Given the description of an element on the screen output the (x, y) to click on. 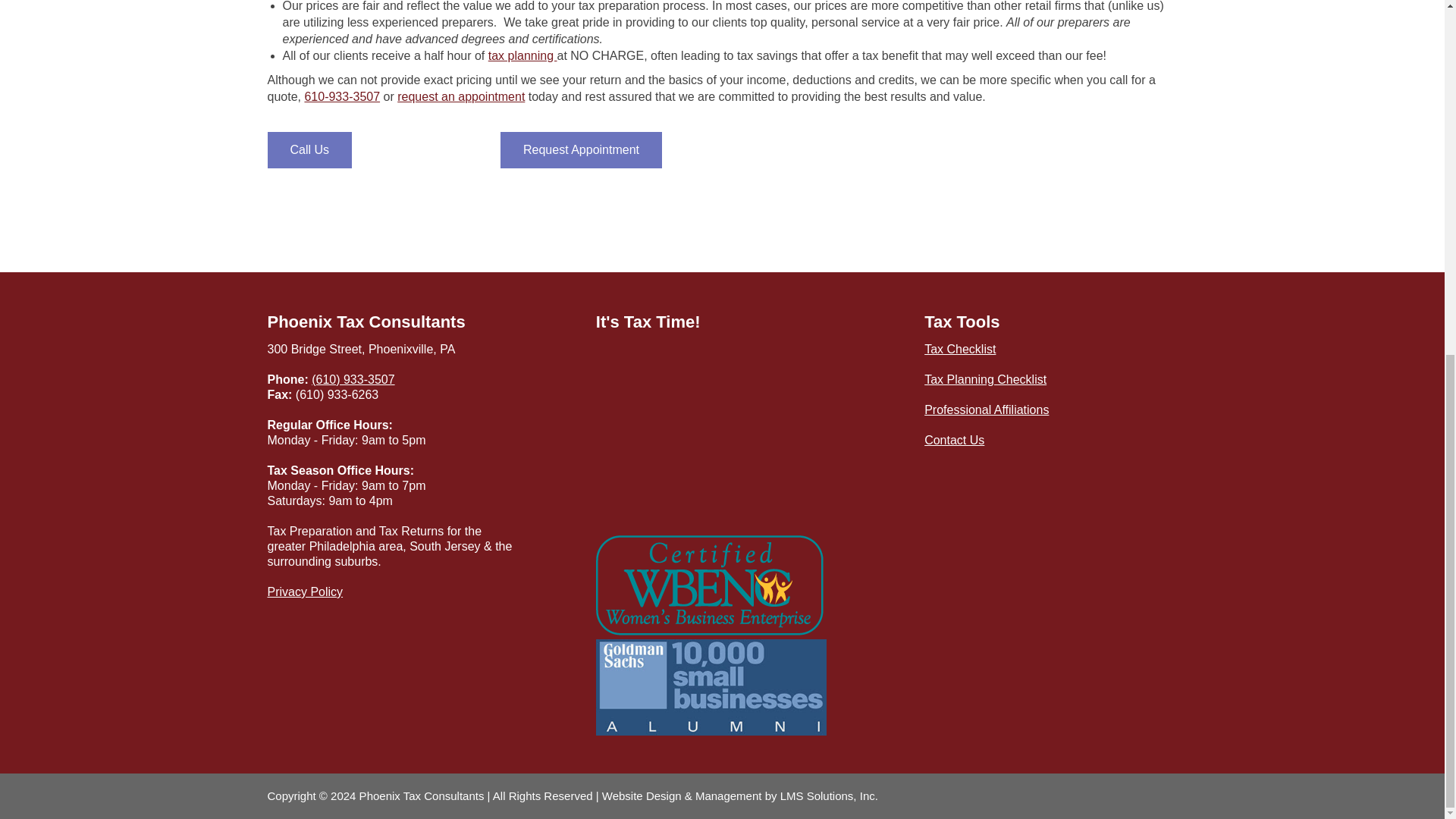
YouTube video player (709, 436)
Book Appointment (581, 149)
